Given the description of an element on the screen output the (x, y) to click on. 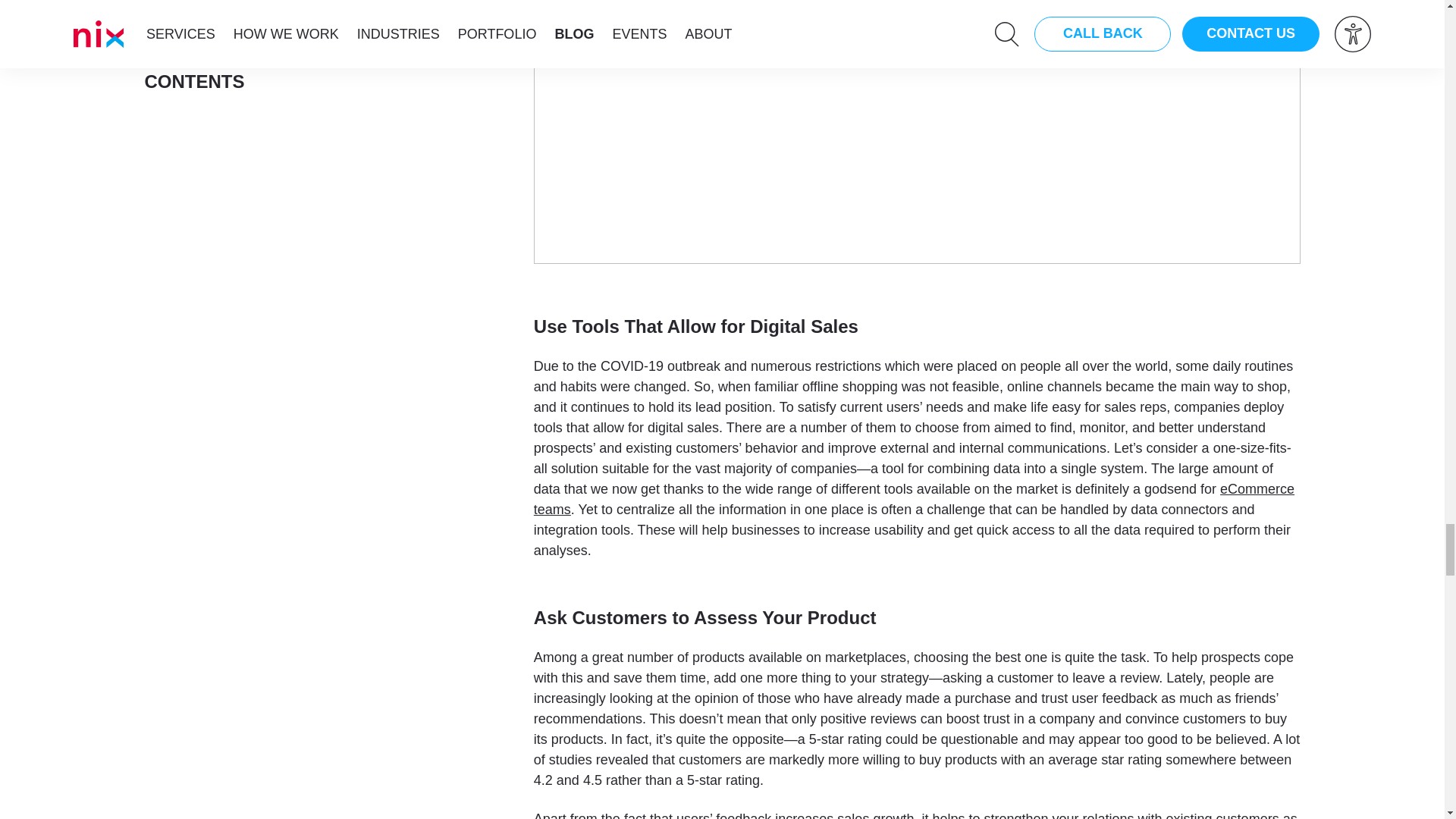
Custom Ecommerce Development (914, 498)
